Given the description of an element on the screen output the (x, y) to click on. 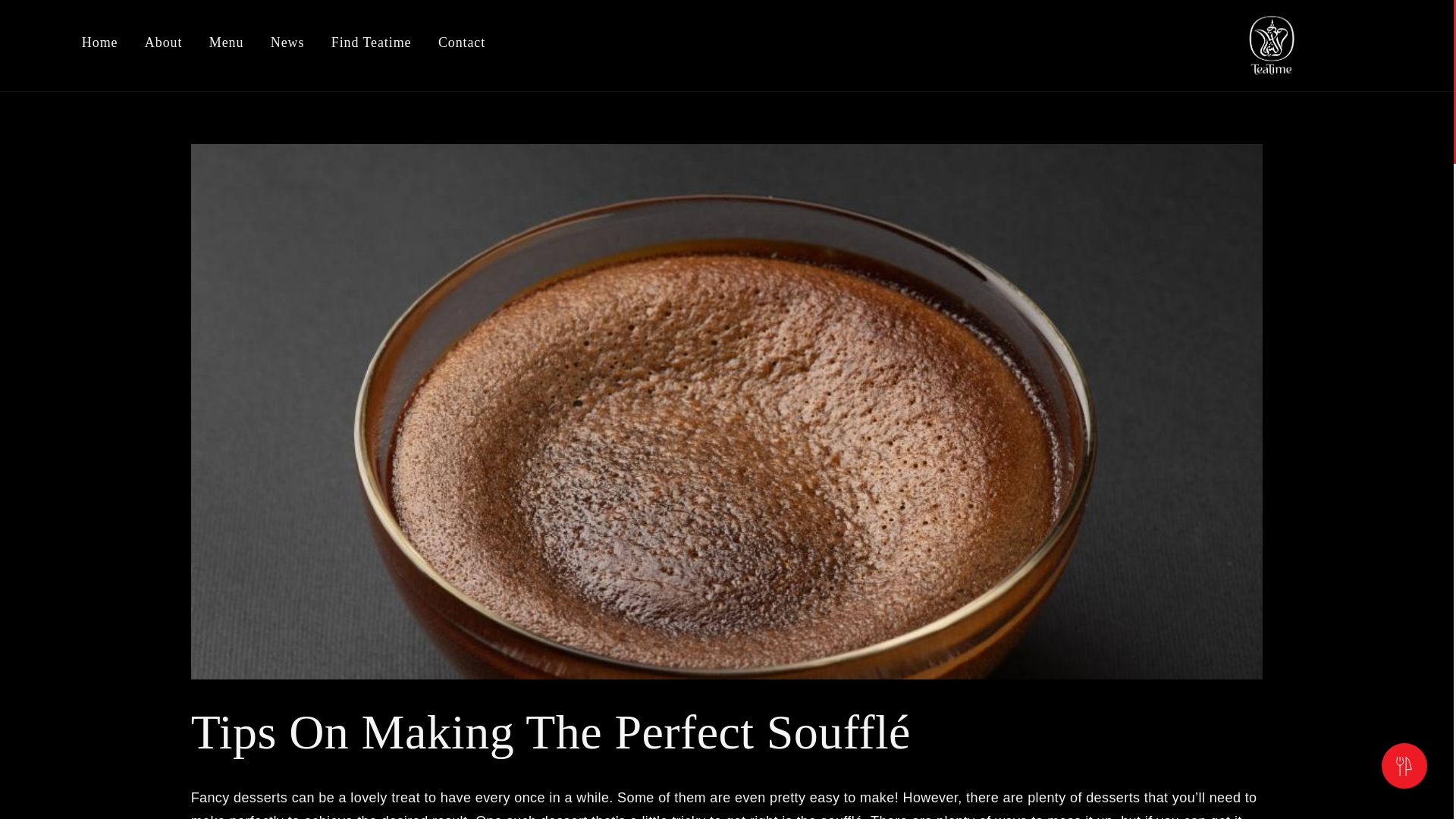
Contact (461, 46)
Find Teatime (371, 46)
About (163, 46)
Home (99, 46)
News (287, 46)
Menu (226, 46)
